Given the description of an element on the screen output the (x, y) to click on. 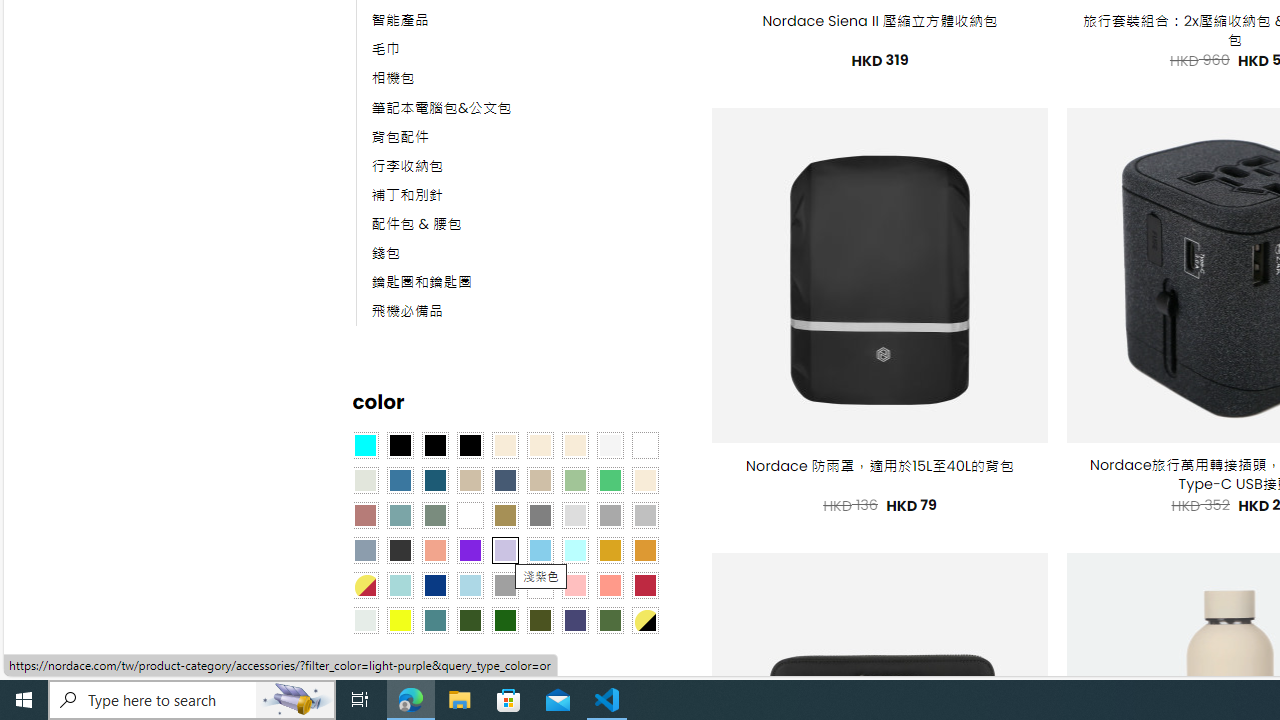
Dull Nickle (364, 619)
